Given the description of an element on the screen output the (x, y) to click on. 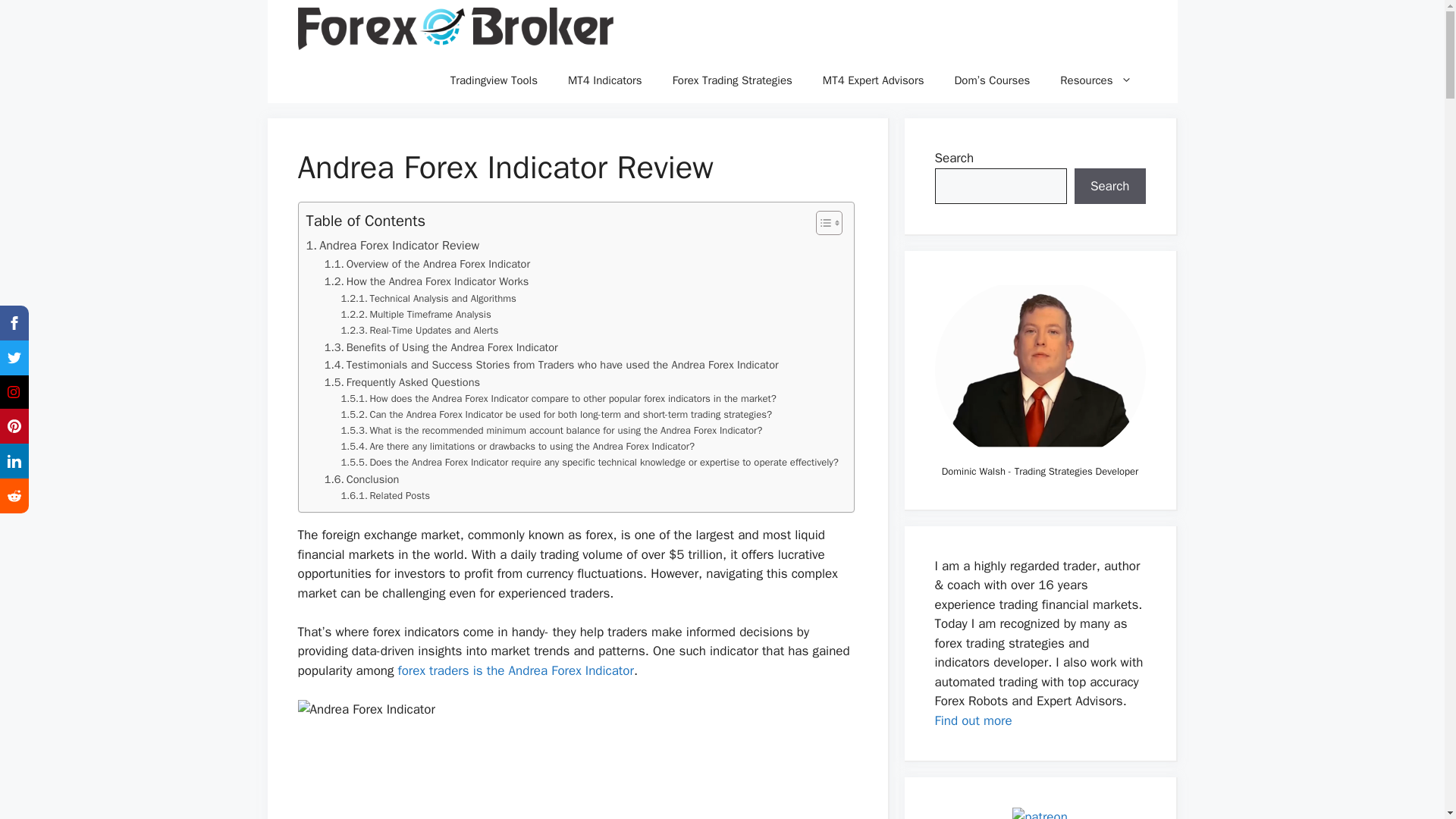
Frequently Asked Questions (402, 382)
Benefits of Using the Andrea Forex Indicator (440, 346)
Real-Time Updates and Alerts (419, 330)
Frequently Asked Questions (402, 382)
How the Andrea Forex Indicator Works (426, 281)
Andrea Forex Indicator Review (392, 245)
Conclusion (361, 479)
MT4 Expert Advisors (873, 80)
Multiple Timeframe Analysis (416, 314)
Overview of the Andrea Forex Indicator (426, 263)
